Given the description of an element on the screen output the (x, y) to click on. 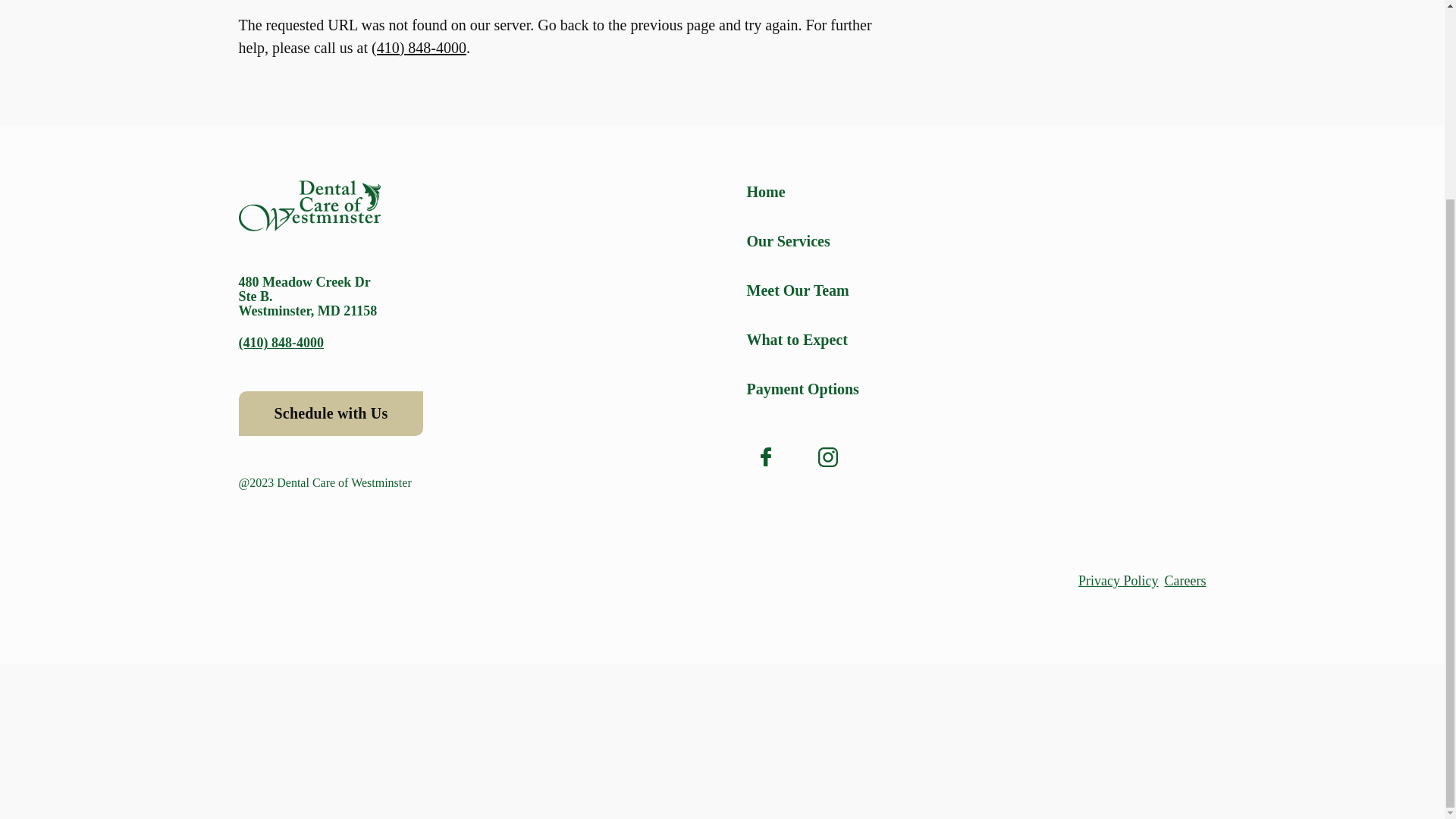
Home (975, 191)
Payment Options (975, 388)
Careers (1185, 580)
Instagram (826, 456)
Schedule with Us (330, 413)
Facebook (764, 456)
Our Services (975, 241)
Meet Our Team (975, 290)
Privacy Policy (1118, 580)
What to Expect (975, 339)
